Given the description of an element on the screen output the (x, y) to click on. 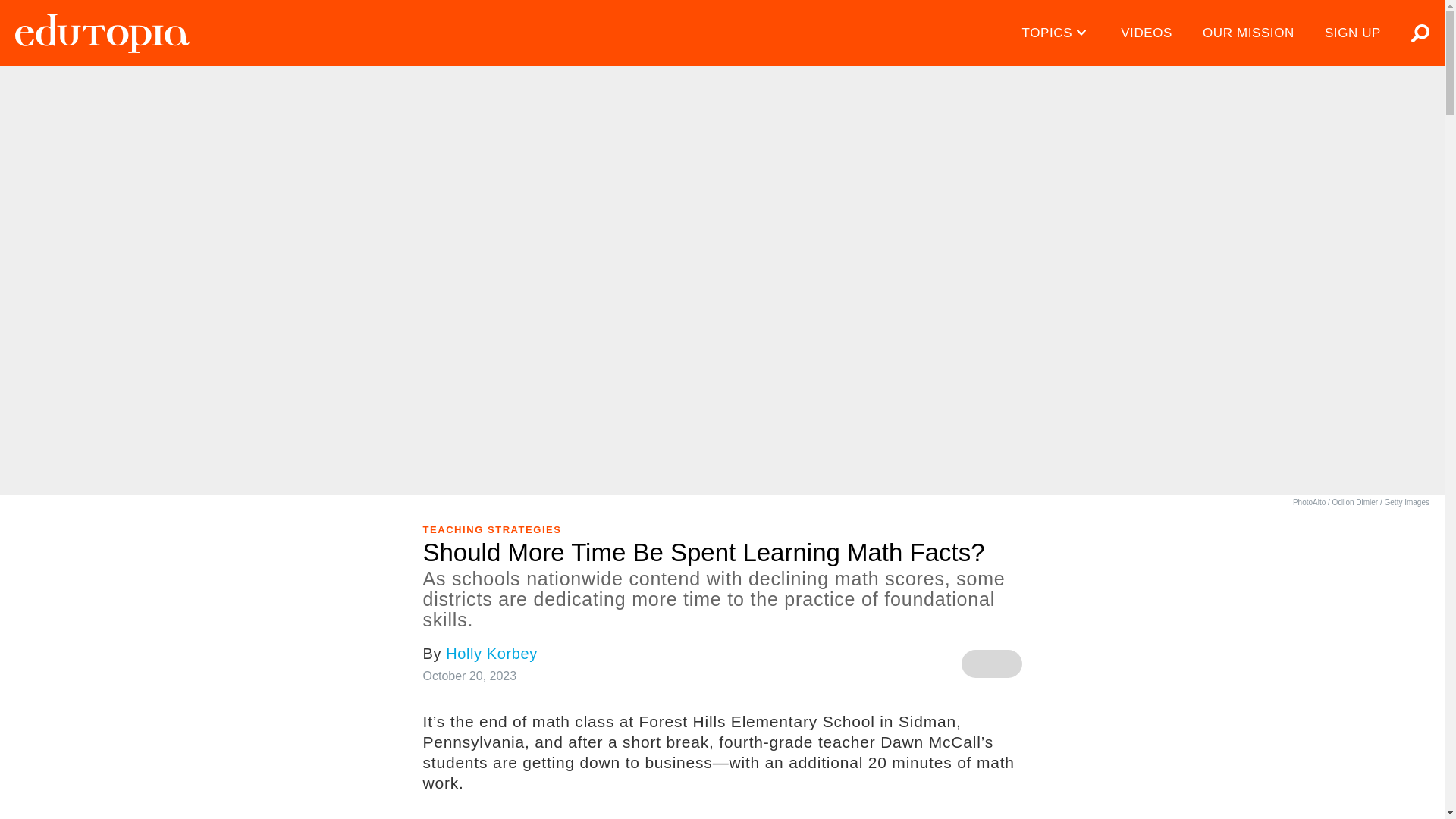
Edutopia (101, 33)
SIGN UP (1352, 33)
TOPICS (1056, 33)
Holly Korbey (491, 653)
Edutopia (101, 33)
VIDEOS (1146, 33)
OUR MISSION (1248, 33)
